Given the description of an element on the screen output the (x, y) to click on. 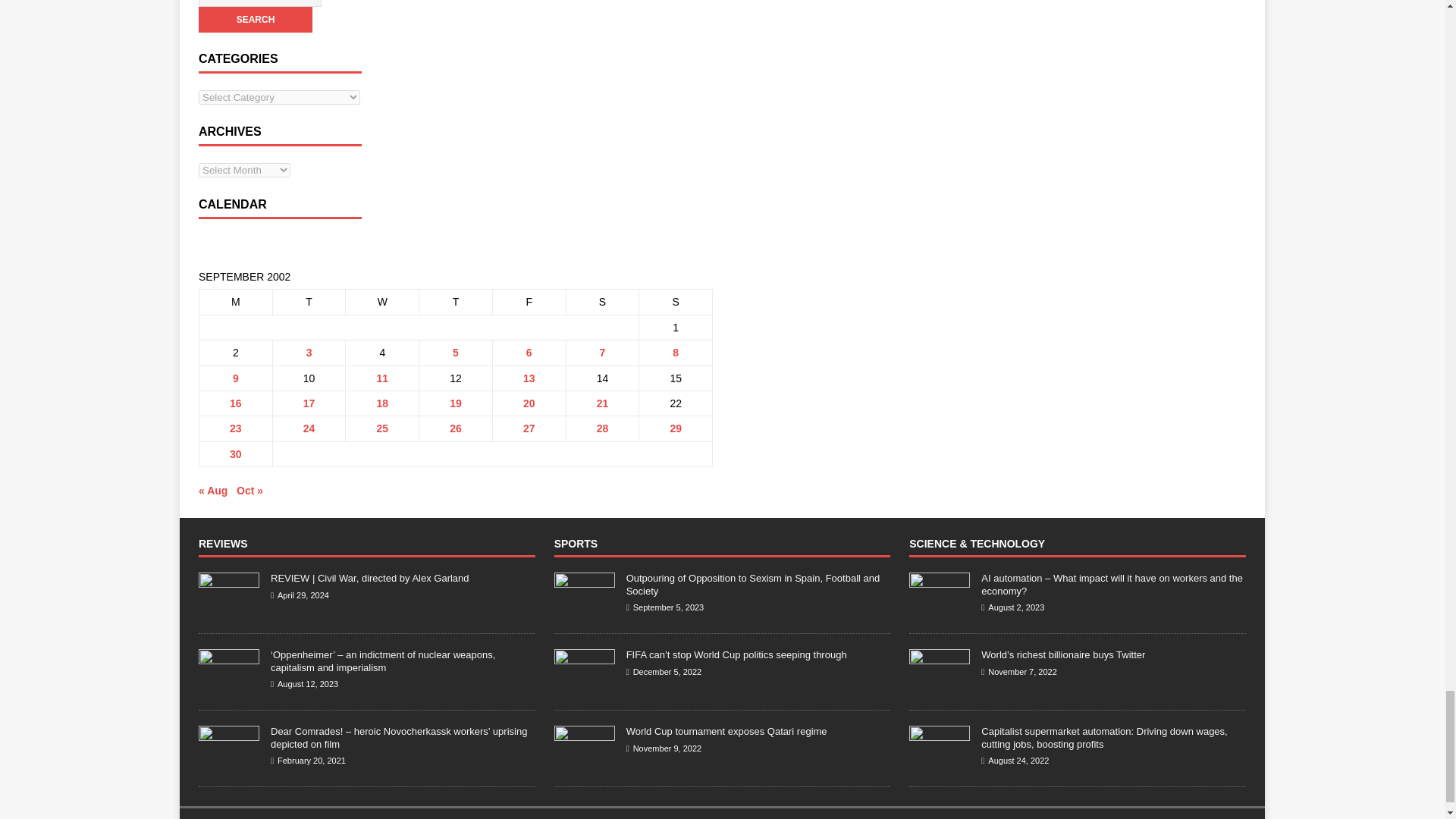
Search (255, 19)
Search (255, 19)
